Given the description of an element on the screen output the (x, y) to click on. 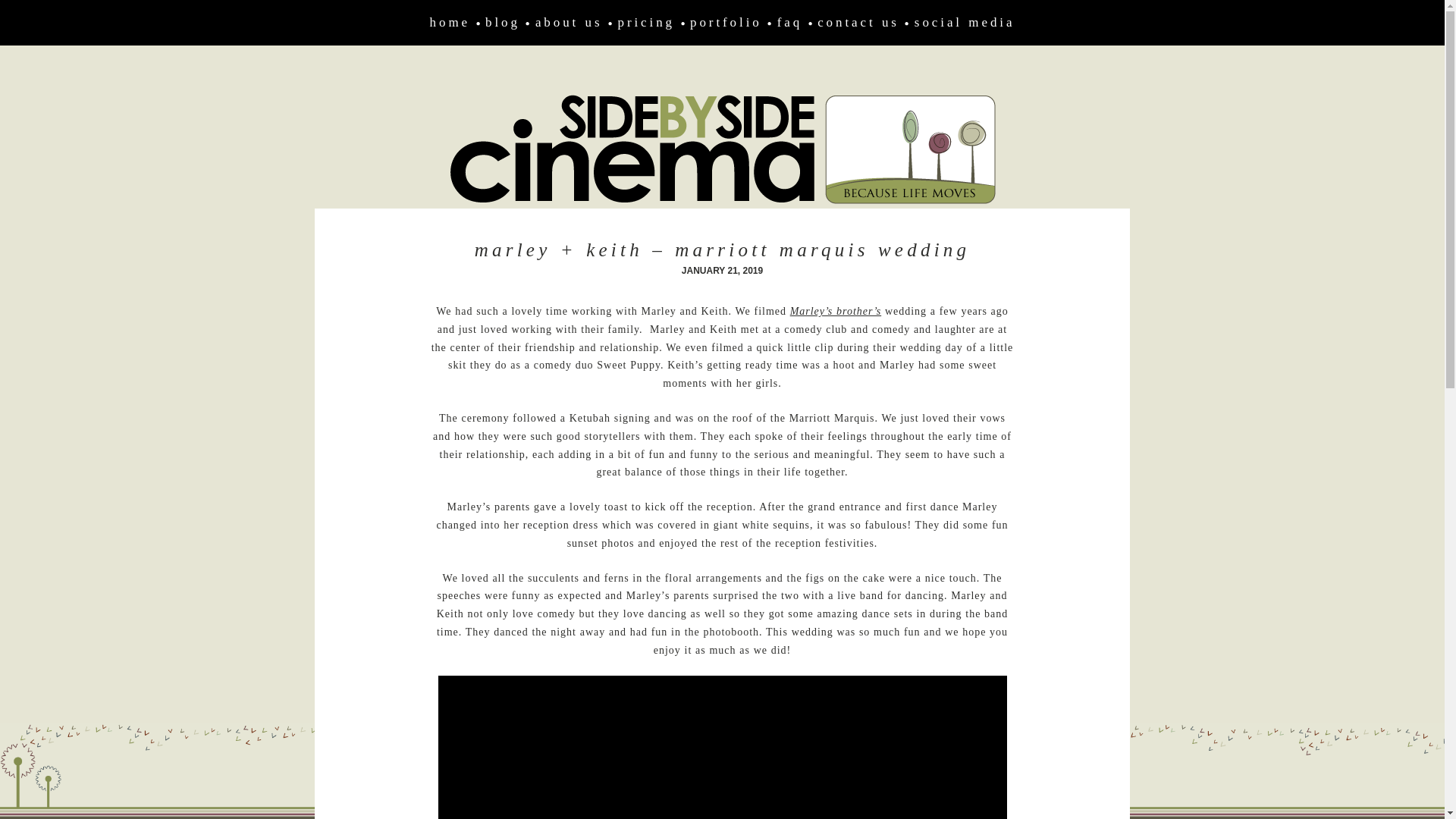
faq (789, 22)
about us (568, 22)
home (449, 22)
pricing (646, 22)
blog (501, 22)
portfolio (725, 22)
contact us (857, 22)
